Given the description of an element on the screen output the (x, y) to click on. 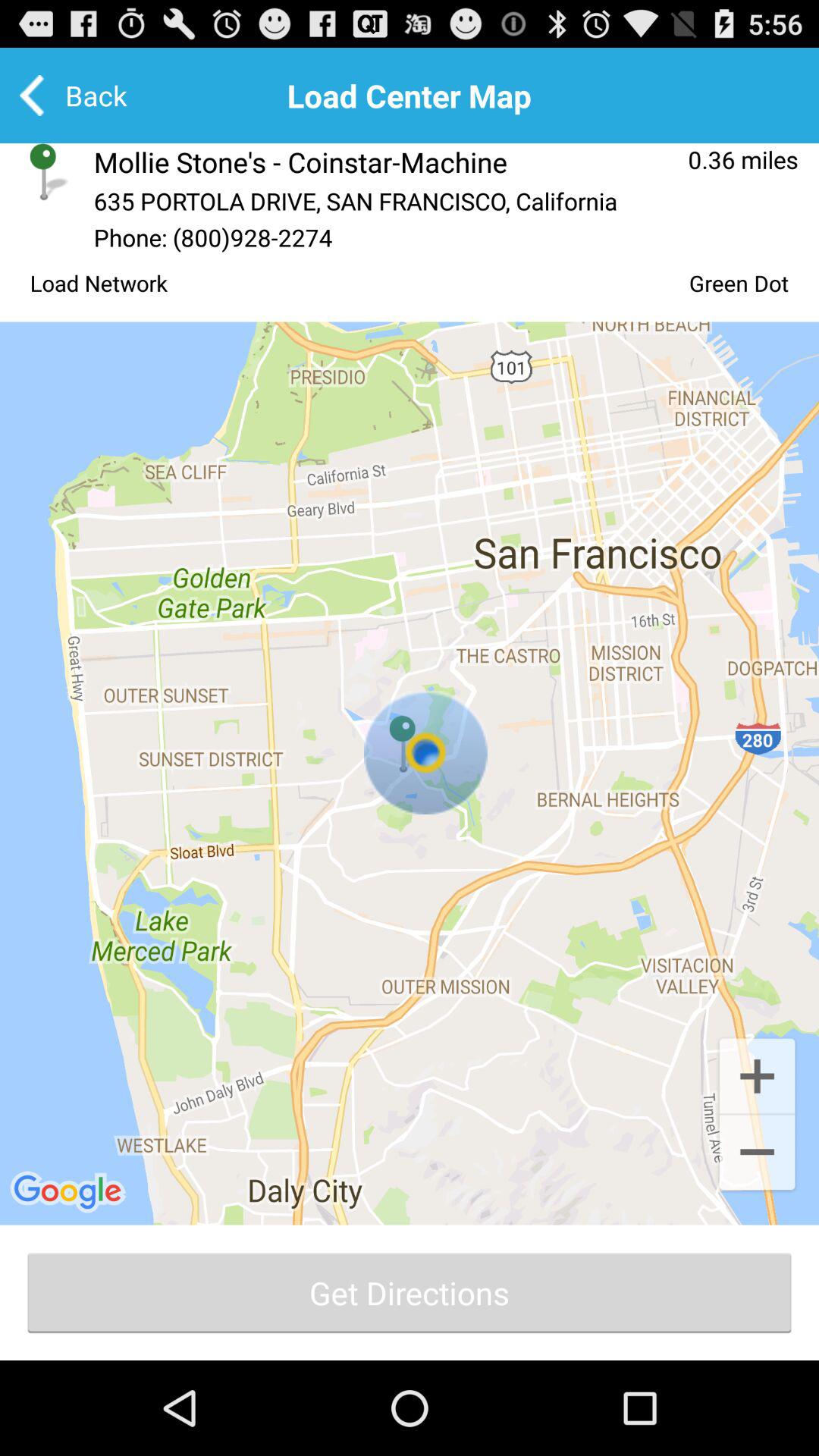
click on the back option (83, 95)
click on the last button (409, 1292)
